Given the description of an element on the screen output the (x, y) to click on. 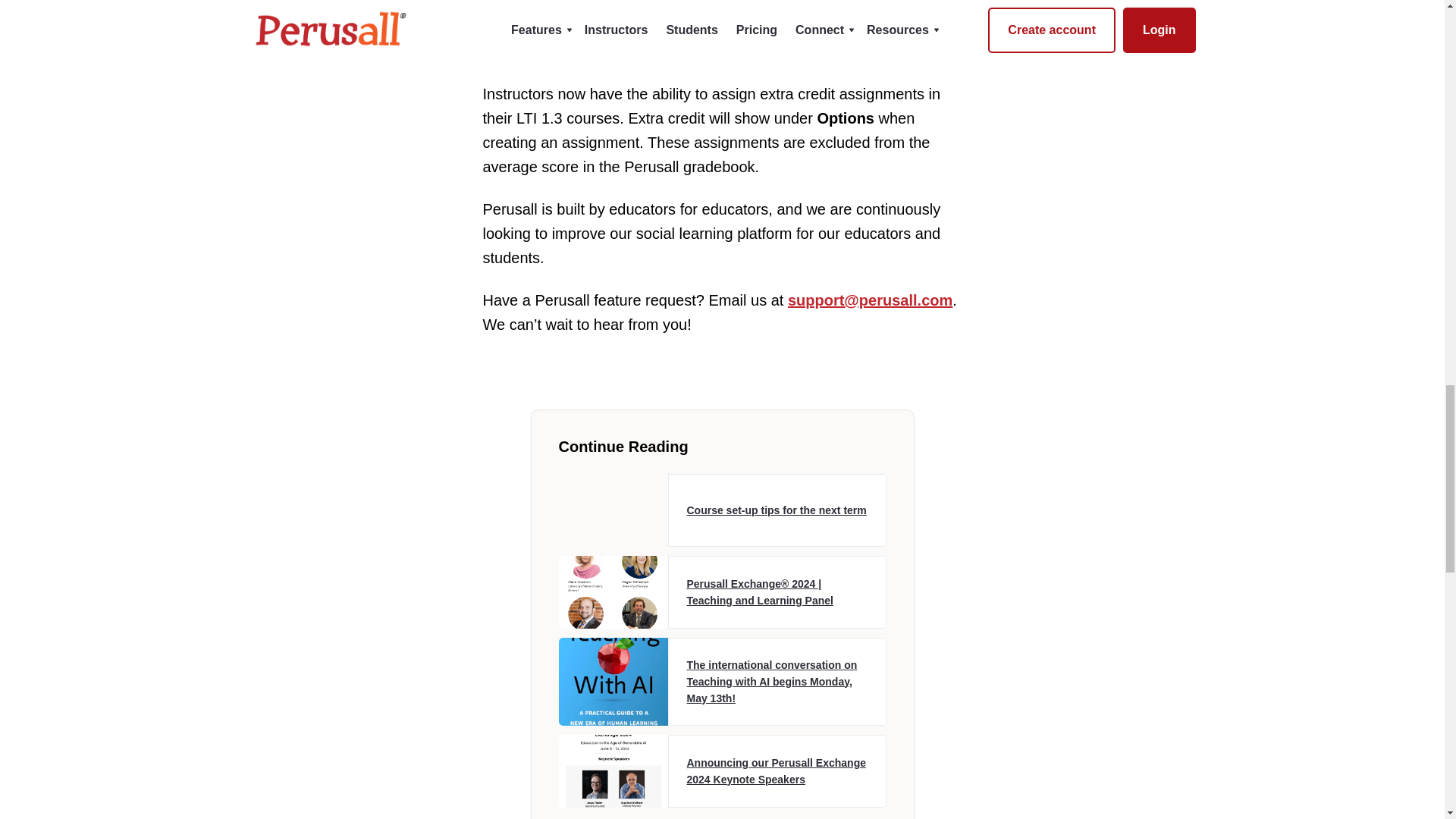
Course set-up tips for the next term (721, 510)
Announcing our Perusall Exchange 2024 Keynote Speakers (721, 770)
